Given the description of an element on the screen output the (x, y) to click on. 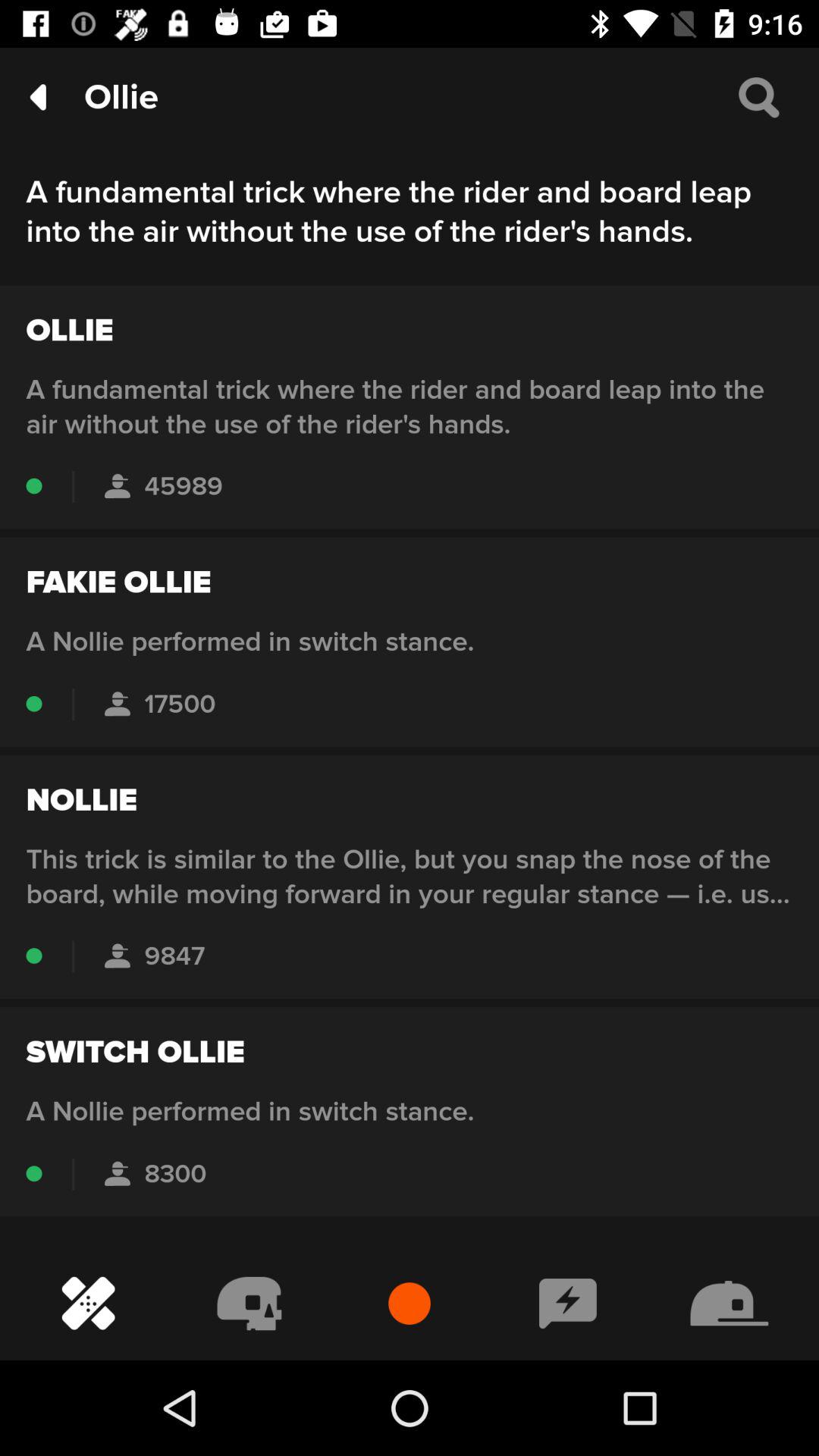
click on the second button in the bottom menu bar (249, 1303)
select the human icon on left to the text 8300 on the web page (117, 1173)
9847 beside left icon (117, 956)
